Given the description of an element on the screen output the (x, y) to click on. 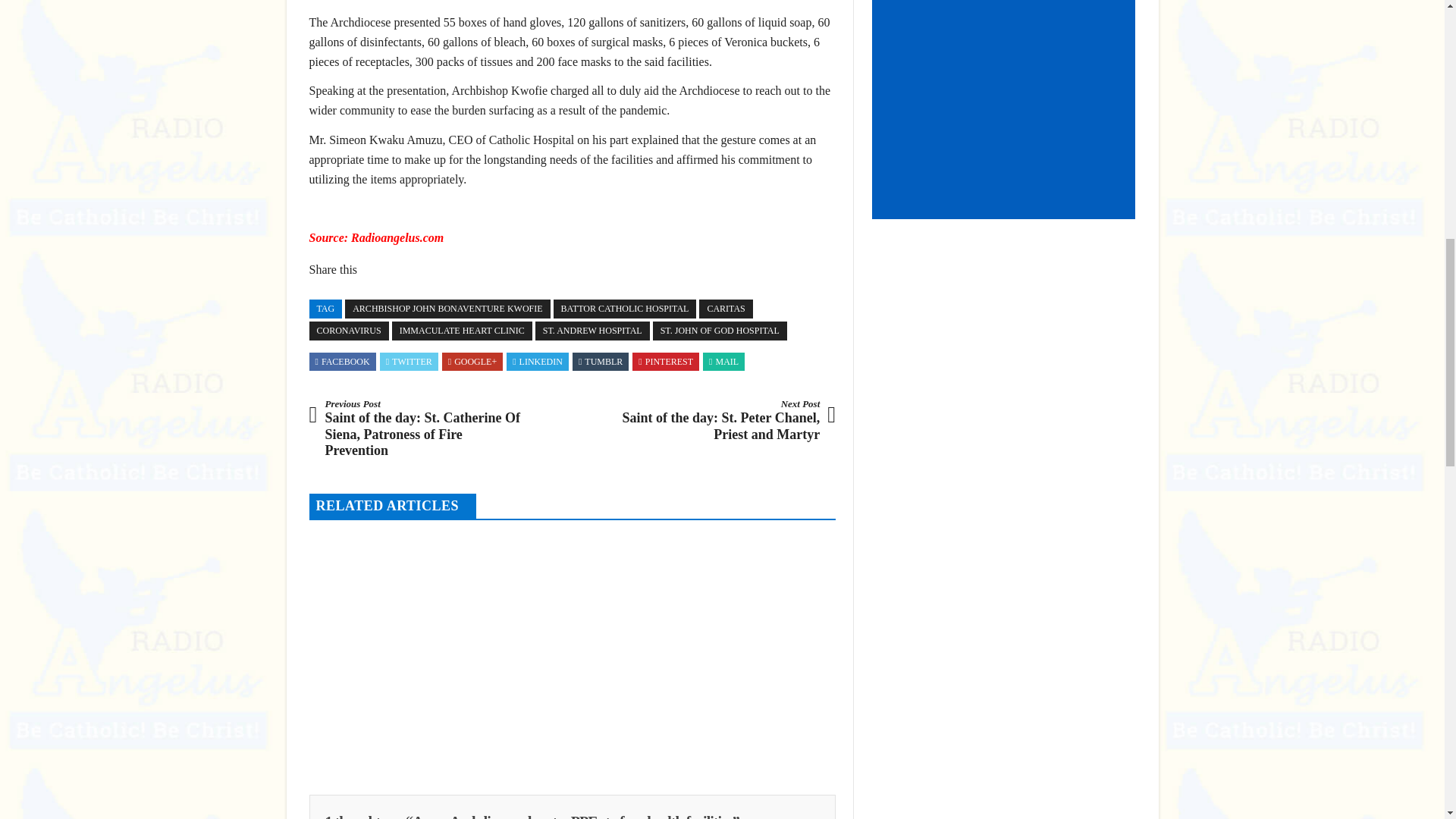
Pinterest (666, 361)
Tumblr (600, 361)
Twitter (408, 361)
Mail (723, 361)
Facebook (342, 361)
Google Plus (472, 361)
LinkedIn (537, 361)
